Given the description of an element on the screen output the (x, y) to click on. 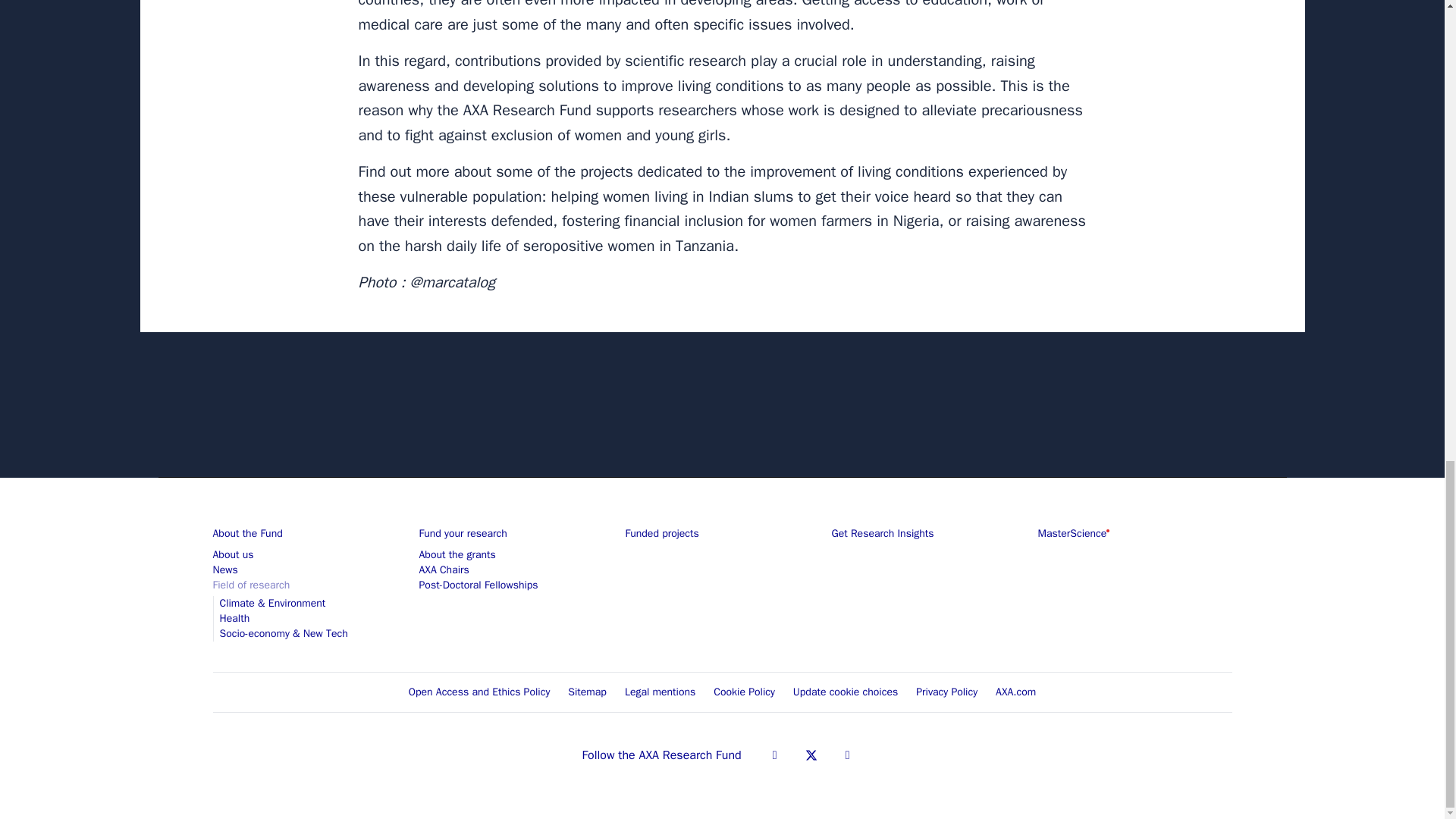
Legal mentions (659, 690)
News (224, 569)
Open Access and Ethics Policy (479, 690)
Go to X-Twitter (811, 754)
Get Research Insights (882, 533)
Funded projects (661, 533)
AXA Chairs (443, 569)
Go to LinkedIn (775, 754)
About us (232, 554)
About the grants (457, 554)
Post-Doctoral Fellowships (478, 584)
Health (234, 617)
Sitemap (587, 690)
Go to Youtube (847, 754)
MasterScience (1071, 533)
